Given the description of an element on the screen output the (x, y) to click on. 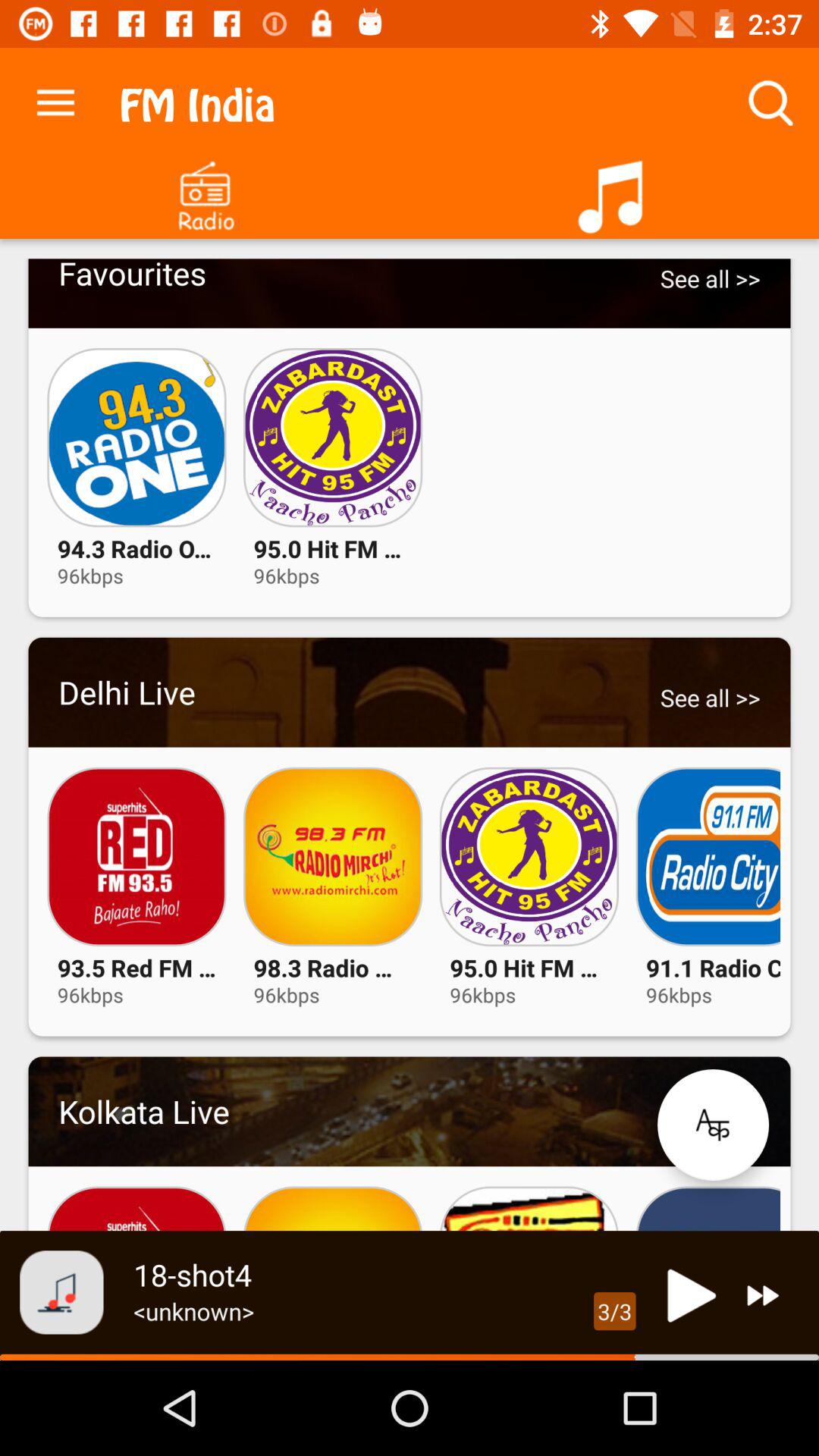
tap the app to the left of the fm india (55, 99)
